Given the description of an element on the screen output the (x, y) to click on. 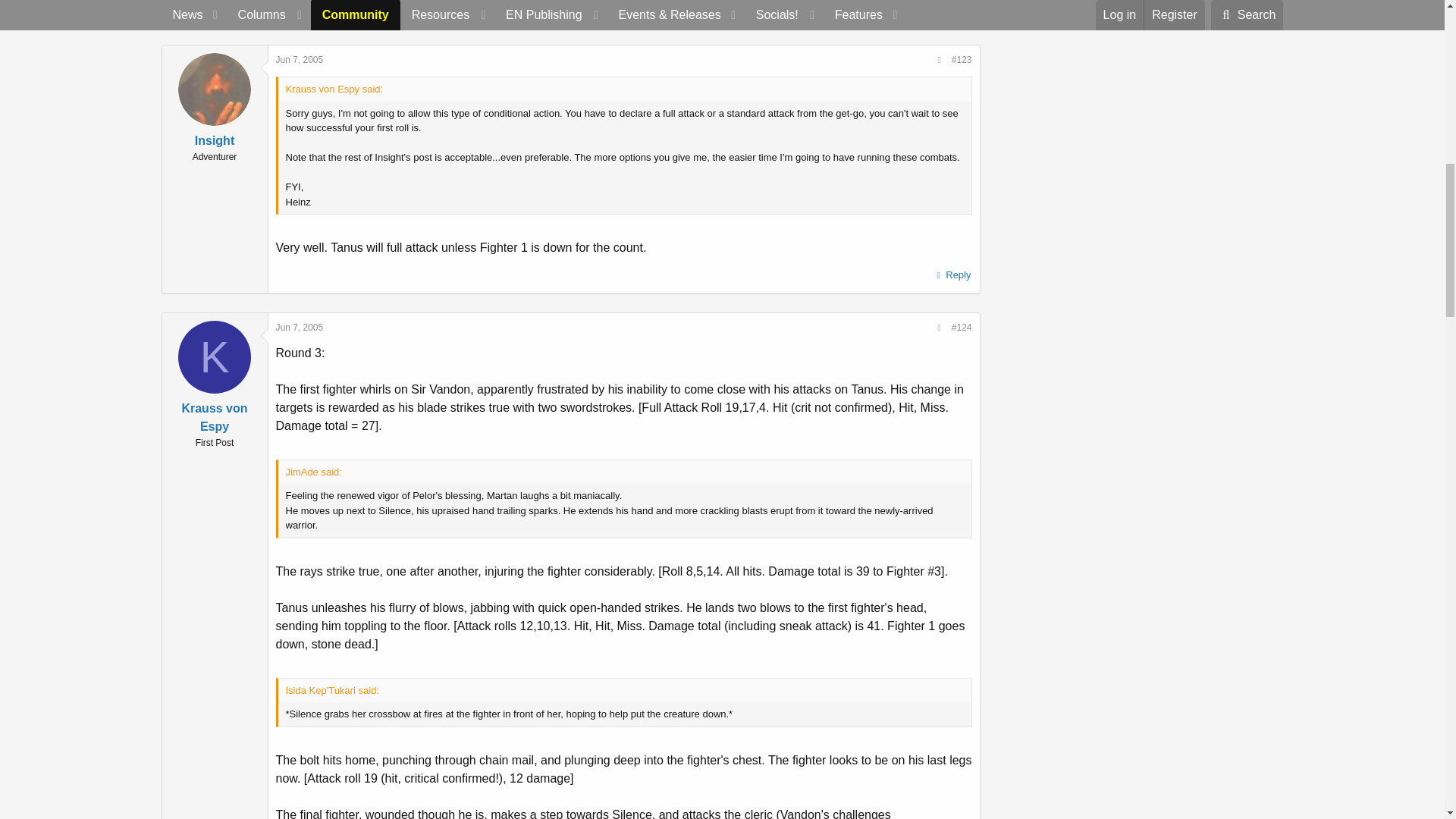
Reply, quoting this message (952, 9)
Jun 7, 2005 at 3:36 AM (299, 327)
Reply, quoting this message (952, 274)
Jun 7, 2005 at 2:18 AM (299, 59)
